Given the description of an element on the screen output the (x, y) to click on. 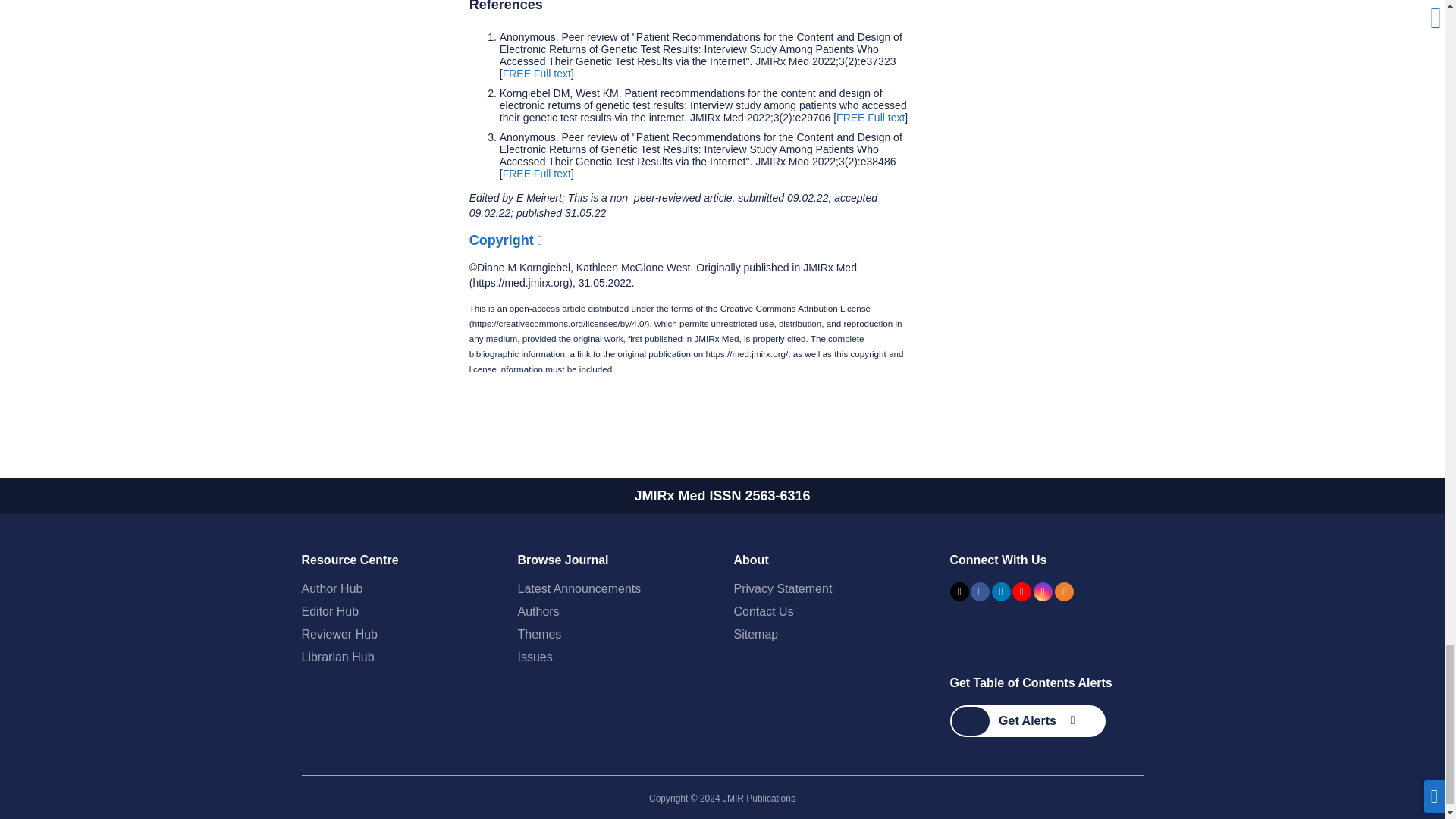
Instagram (1041, 591)
YouTube (1020, 591)
Linkedin (1000, 591)
RSS Subscription (1064, 591)
Twitter (958, 591)
Facebook (980, 591)
